Given the description of an element on the screen output the (x, y) to click on. 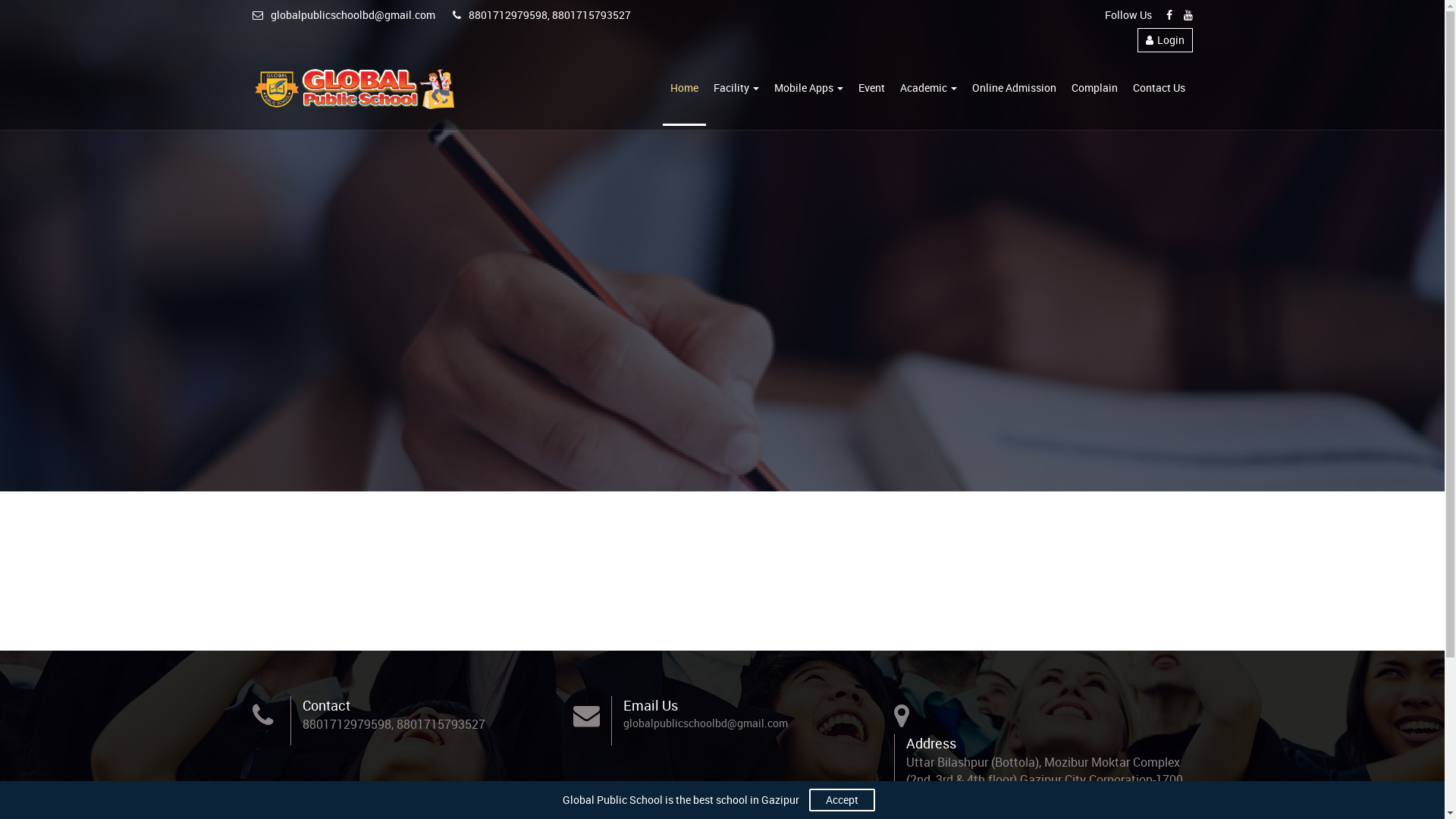
Facility Element type: text (735, 88)
Complain Element type: text (1093, 88)
Home Element type: text (684, 88)
Online Admission Element type: text (1013, 88)
Address Element type: text (931, 743)
Login Element type: text (1164, 40)
Accept Element type: text (841, 799)
globalpublicschoolbd@gmail.com Element type: text (705, 722)
Contact Us Element type: text (1158, 88)
Email Us Element type: text (650, 705)
Event Element type: text (871, 88)
Mobile Apps Element type: text (807, 88)
Contact Element type: text (325, 705)
globalpublicschoolbd@gmail.com Element type: text (342, 14)
Academic Element type: text (927, 88)
